Given the description of an element on the screen output the (x, y) to click on. 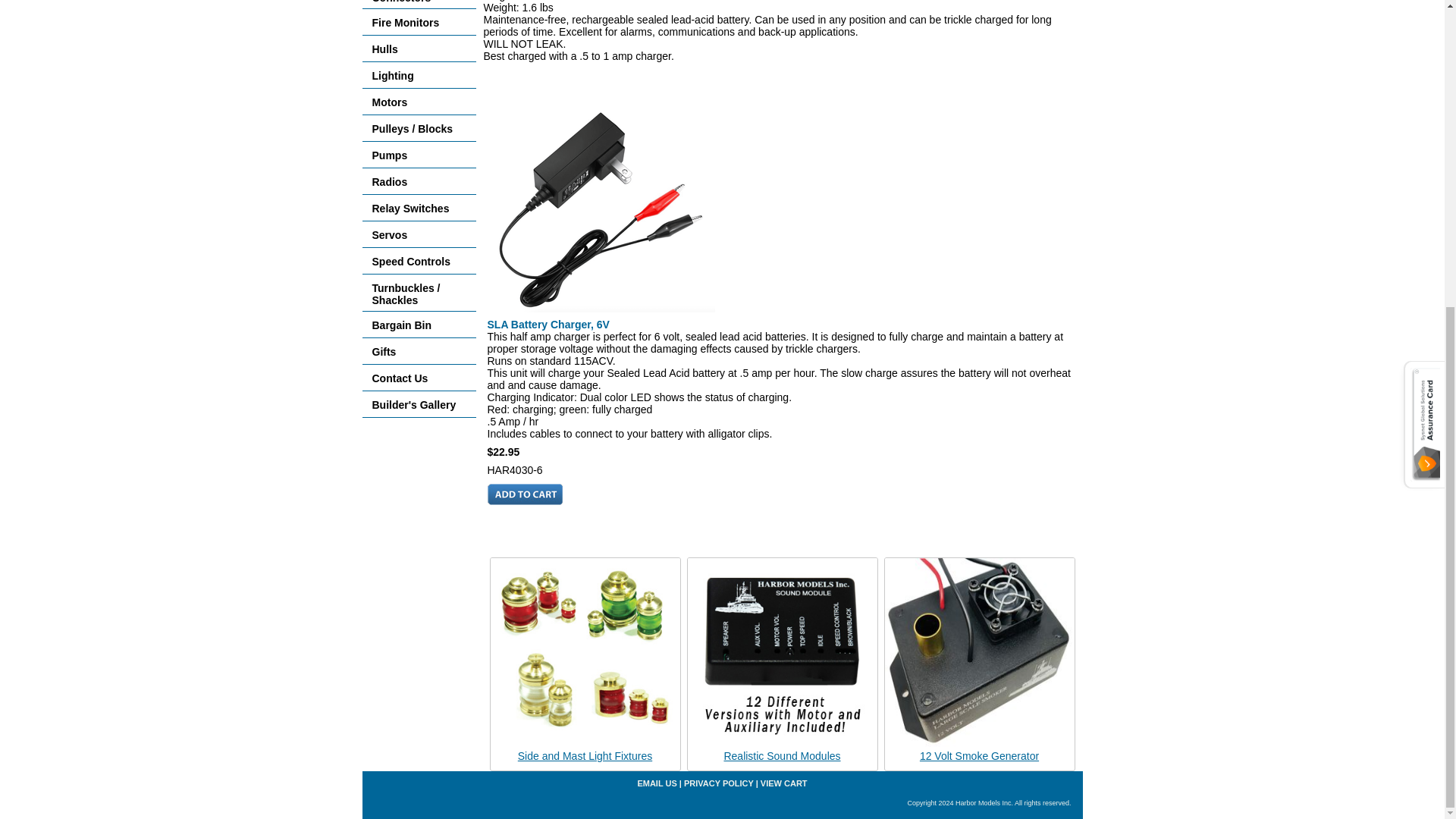
Side and Mast Light Fixtures (585, 756)
Hulls (419, 49)
Relay Switches (419, 207)
SLA Battery Charger, 6V (547, 324)
Motors (419, 101)
Pumps (419, 154)
Realistic Sound Modules (781, 756)
SLA Battery Charger, 6V (600, 208)
SLA Battery Charger, 6V (547, 324)
Speed Controls (419, 261)
12 Volt Smoke Generator (979, 756)
Hulls (419, 49)
Motors (419, 101)
Radios (419, 181)
Fire Monitors (419, 22)
